Given the description of an element on the screen output the (x, y) to click on. 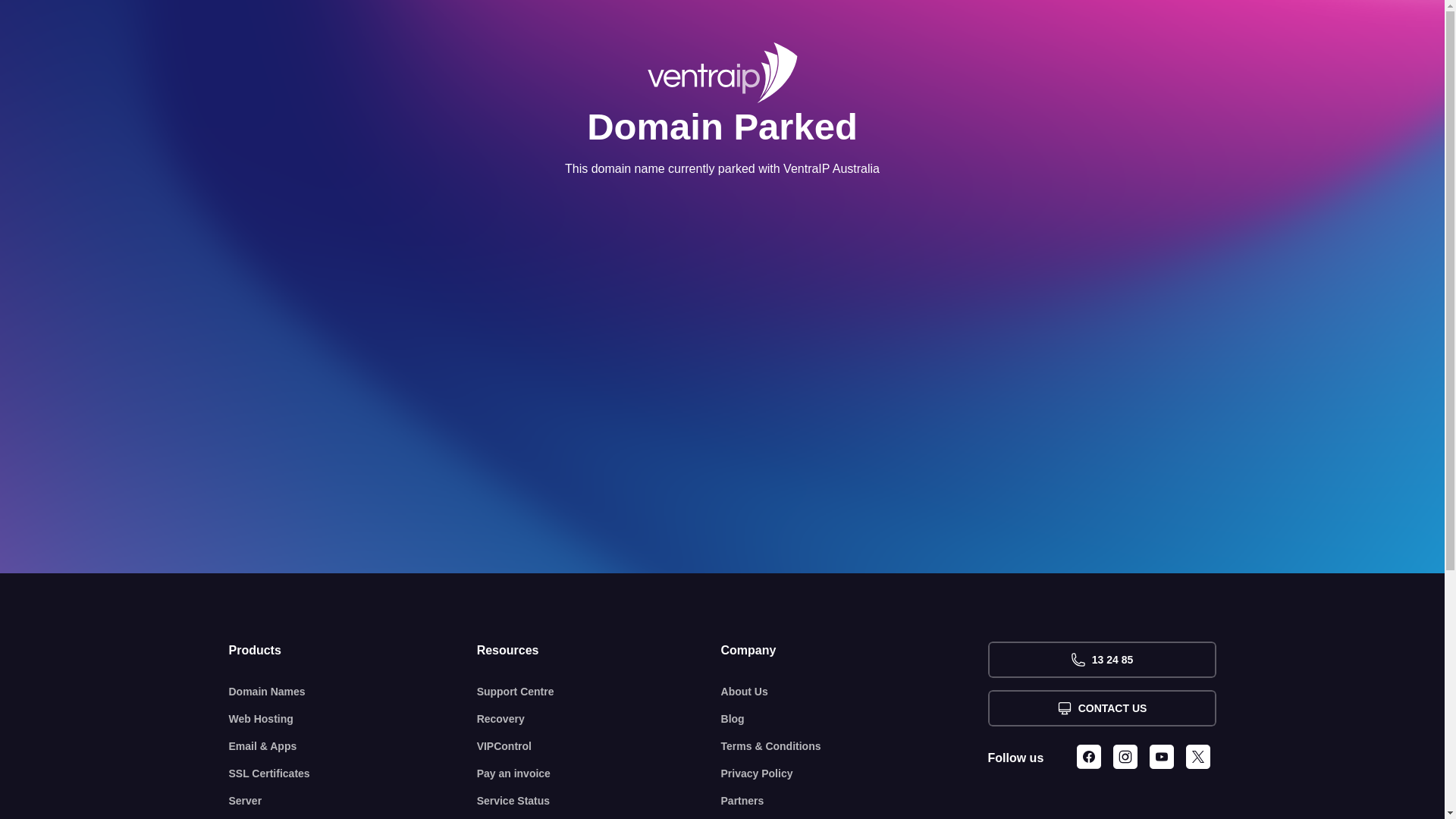
VIPControl Element type: text (598, 745)
Domain Names Element type: text (352, 691)
Pay an invoice Element type: text (598, 773)
Recovery Element type: text (598, 718)
Privacy Policy Element type: text (854, 773)
Email & Apps Element type: text (352, 745)
Blog Element type: text (854, 718)
Partners Element type: text (854, 800)
13 24 85 Element type: text (1101, 659)
CONTACT US Element type: text (1101, 708)
SSL Certificates Element type: text (352, 773)
Terms & Conditions Element type: text (854, 745)
Service Status Element type: text (598, 800)
Web Hosting Element type: text (352, 718)
Support Centre Element type: text (598, 691)
About Us Element type: text (854, 691)
Server Element type: text (352, 800)
